Given the description of an element on the screen output the (x, y) to click on. 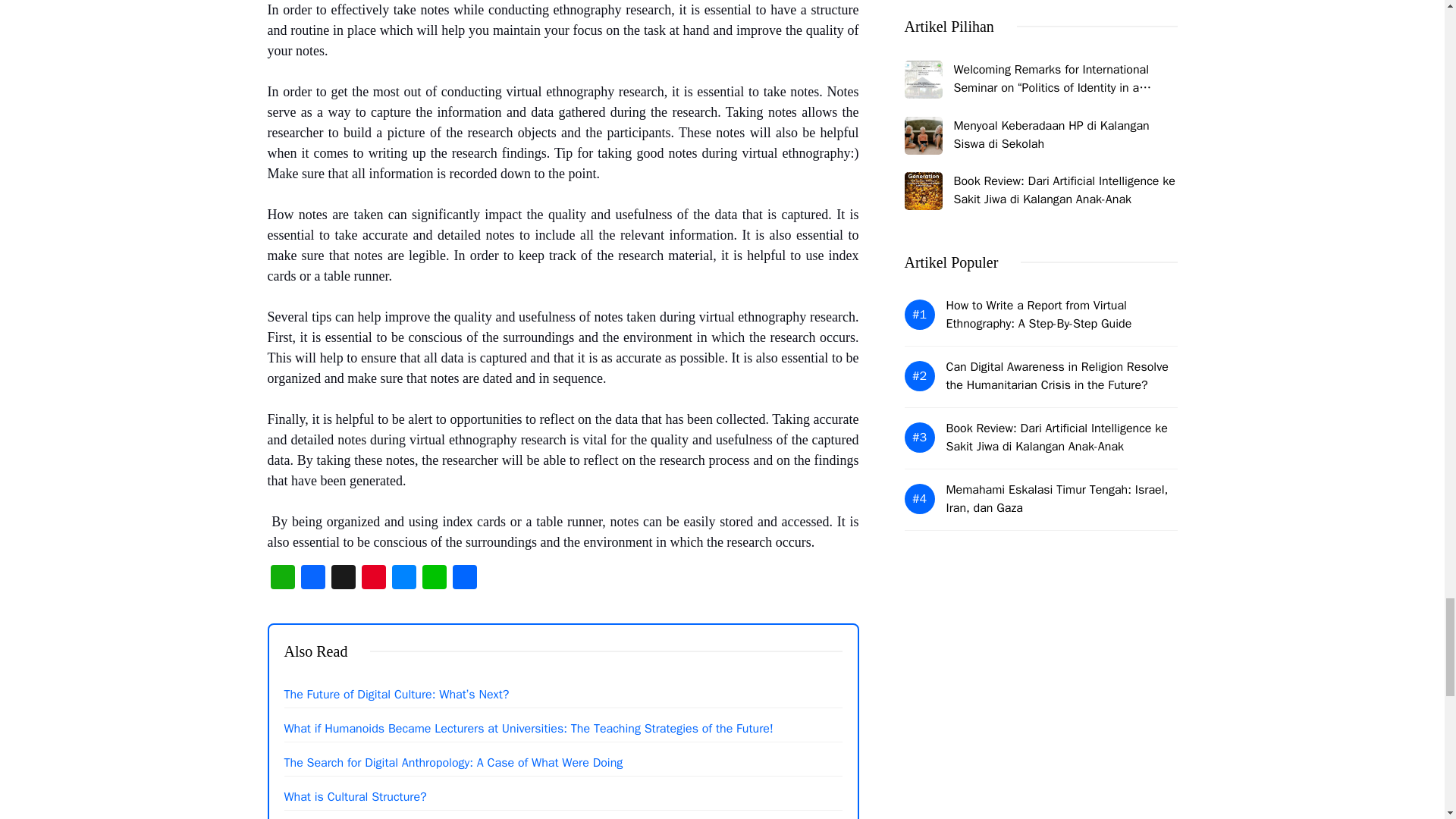
Facebook (312, 578)
WhatsApp (281, 578)
X (342, 578)
Pinterest (373, 578)
Line (433, 578)
WhatsApp (281, 578)
Share (463, 578)
Facebook (312, 578)
Messenger (403, 578)
Pinterest (373, 578)
X (342, 578)
Messenger (403, 578)
